Given the description of an element on the screen output the (x, y) to click on. 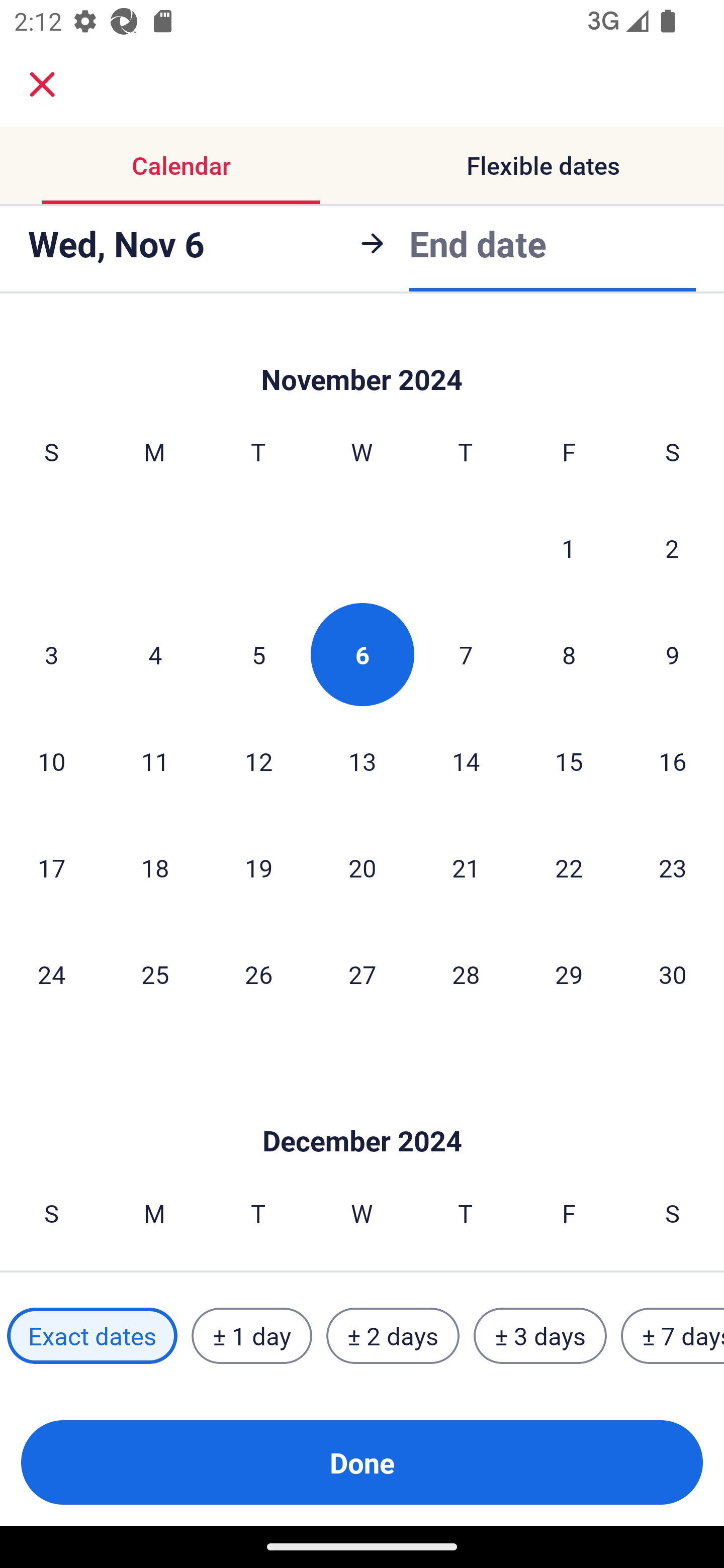
close. (42, 84)
Flexible dates (542, 164)
End date (477, 243)
Skip to Done (362, 356)
1 Friday, November 1, 2024 (568, 547)
2 Saturday, November 2, 2024 (672, 547)
3 Sunday, November 3, 2024 (51, 654)
4 Monday, November 4, 2024 (155, 654)
5 Tuesday, November 5, 2024 (258, 654)
7 Thursday, November 7, 2024 (465, 654)
8 Friday, November 8, 2024 (569, 654)
9 Saturday, November 9, 2024 (672, 654)
10 Sunday, November 10, 2024 (51, 761)
11 Monday, November 11, 2024 (155, 761)
12 Tuesday, November 12, 2024 (258, 761)
13 Wednesday, November 13, 2024 (362, 761)
14 Thursday, November 14, 2024 (465, 761)
15 Friday, November 15, 2024 (569, 761)
16 Saturday, November 16, 2024 (672, 761)
17 Sunday, November 17, 2024 (51, 867)
18 Monday, November 18, 2024 (155, 867)
19 Tuesday, November 19, 2024 (258, 867)
20 Wednesday, November 20, 2024 (362, 867)
21 Thursday, November 21, 2024 (465, 867)
22 Friday, November 22, 2024 (569, 867)
23 Saturday, November 23, 2024 (672, 867)
24 Sunday, November 24, 2024 (51, 973)
25 Monday, November 25, 2024 (155, 973)
26 Tuesday, November 26, 2024 (258, 973)
27 Wednesday, November 27, 2024 (362, 973)
28 Thursday, November 28, 2024 (465, 973)
29 Friday, November 29, 2024 (569, 973)
30 Saturday, November 30, 2024 (672, 973)
Skip to Done (362, 1111)
Exact dates (92, 1335)
± 1 day (251, 1335)
± 2 days (392, 1335)
± 3 days (539, 1335)
± 7 days (672, 1335)
Done (361, 1462)
